Given the description of an element on the screen output the (x, y) to click on. 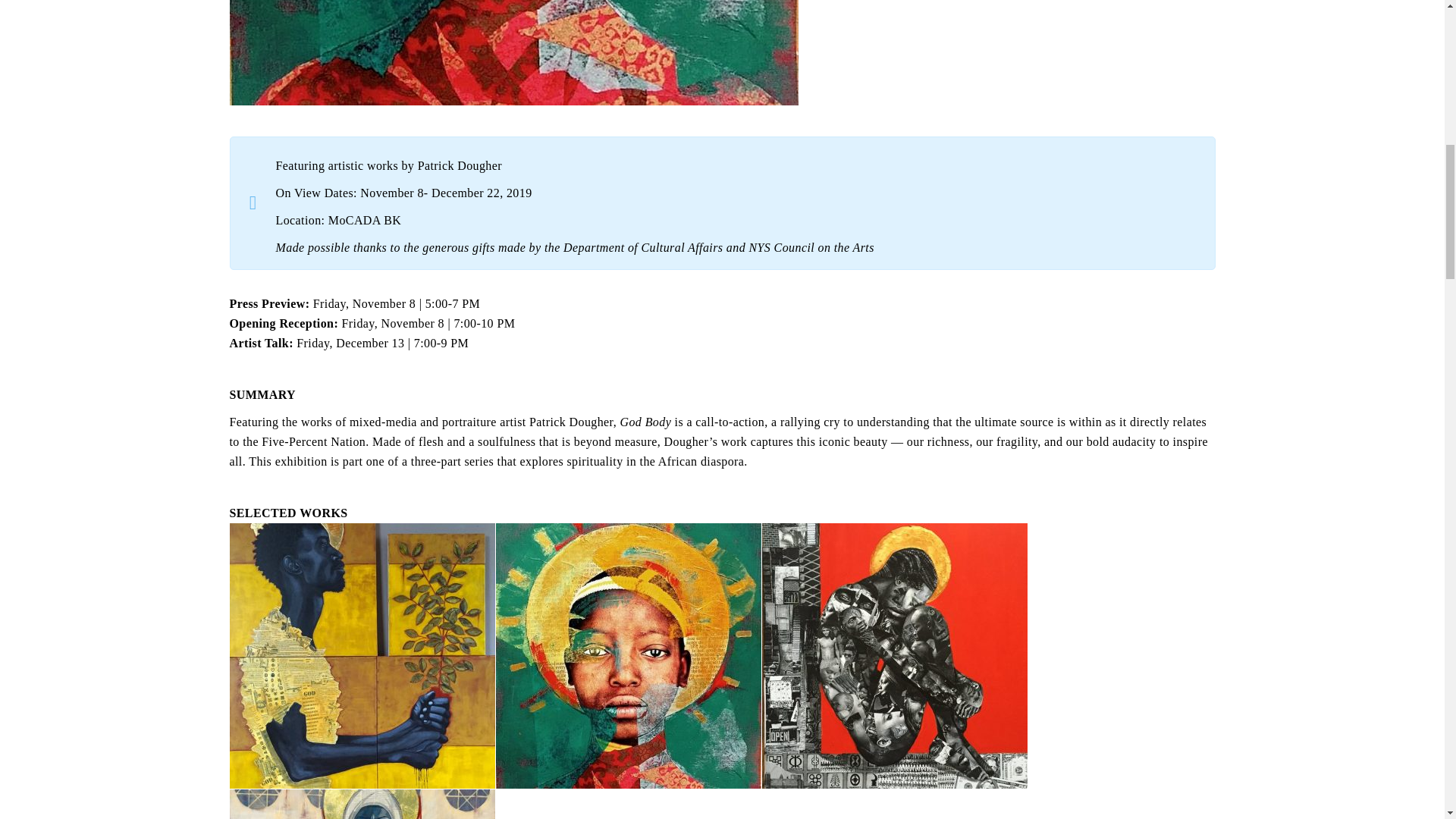
patrick-dougher-draft2 (628, 655)
black-bodies (893, 655)
